Given the description of an element on the screen output the (x, y) to click on. 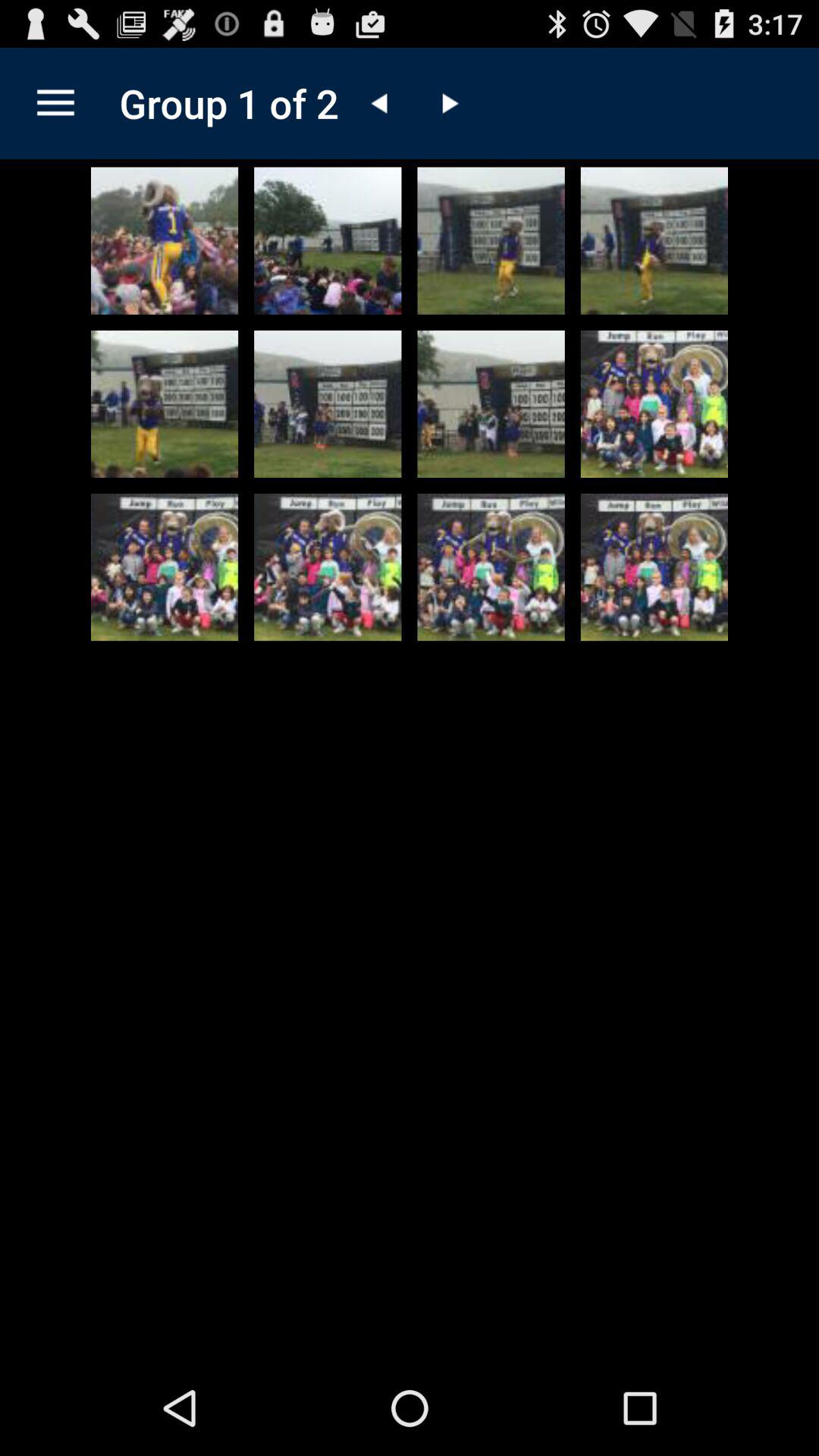
zoom in on the photo (490, 566)
